Given the description of an element on the screen output the (x, y) to click on. 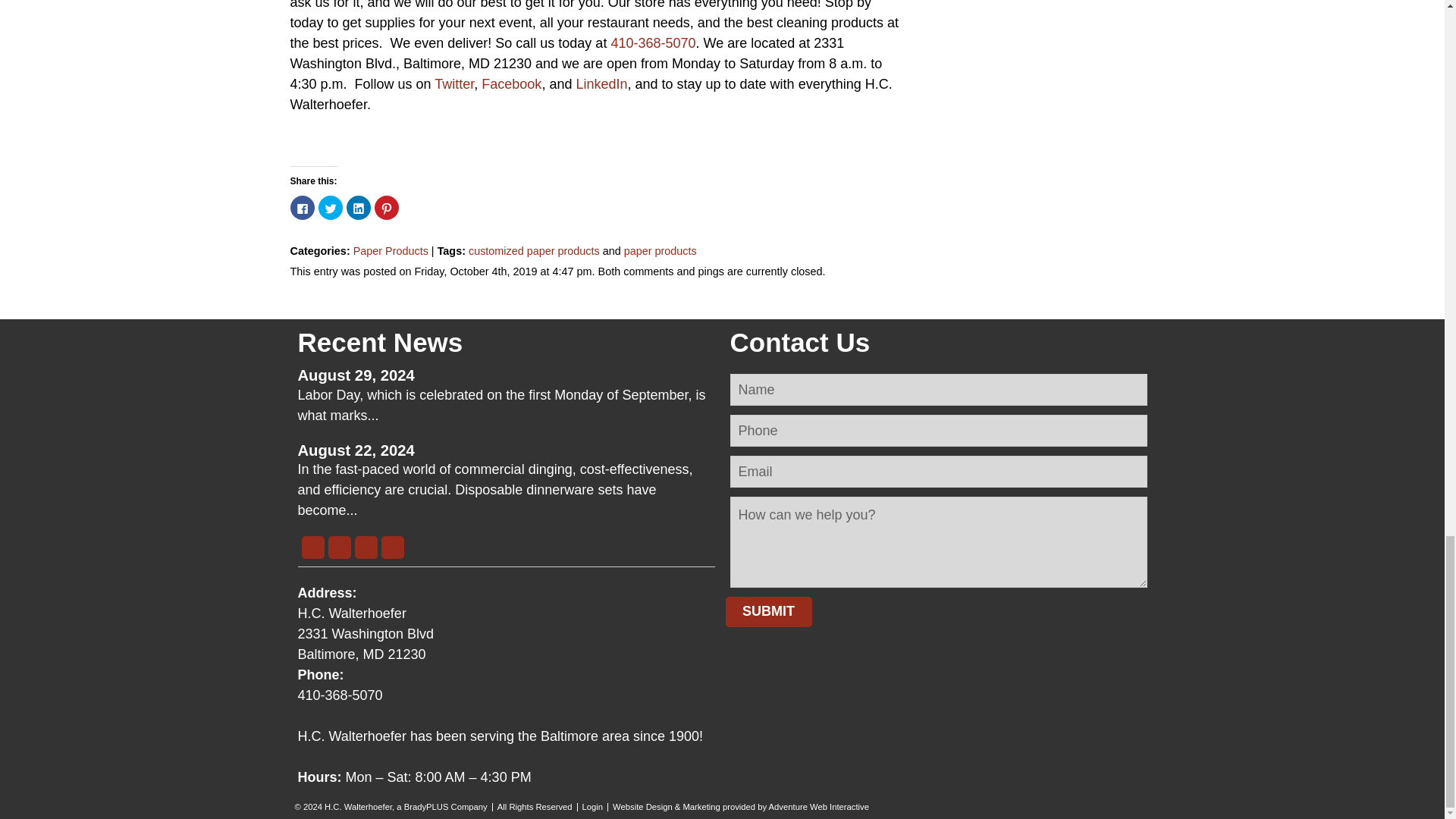
Click to share on Pinterest (386, 207)
Click to share on Facebook (301, 207)
LinkedIn (601, 83)
Paper Products (390, 250)
Facebook (511, 83)
paper products (660, 250)
Submit (767, 612)
Click to share on LinkedIn (357, 207)
customized paper products (533, 250)
Click to share on Twitter (330, 207)
